Given the description of an element on the screen output the (x, y) to click on. 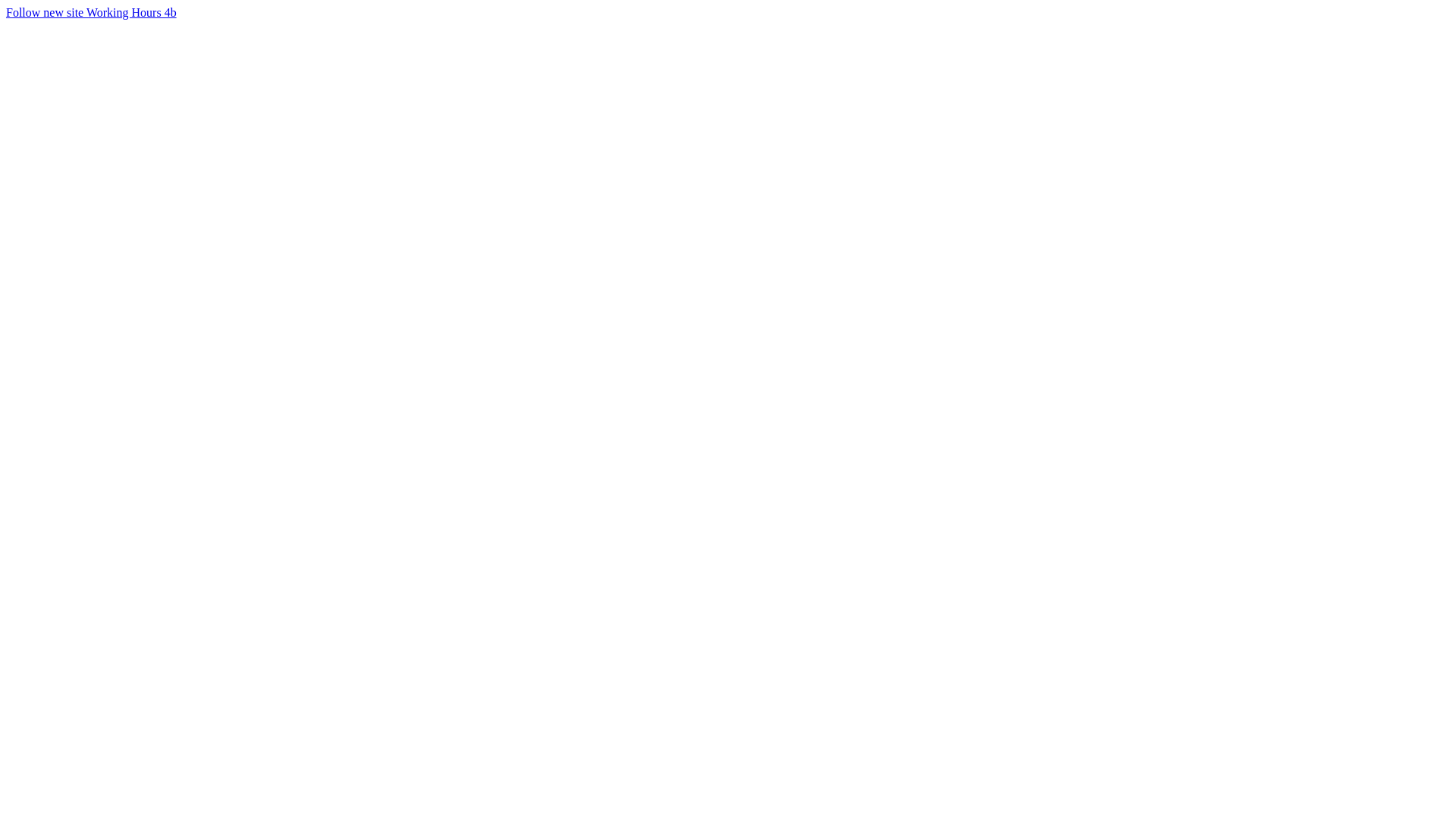
Follow new site Working Hours 4b Element type: text (91, 12)
